Given the description of an element on the screen output the (x, y) to click on. 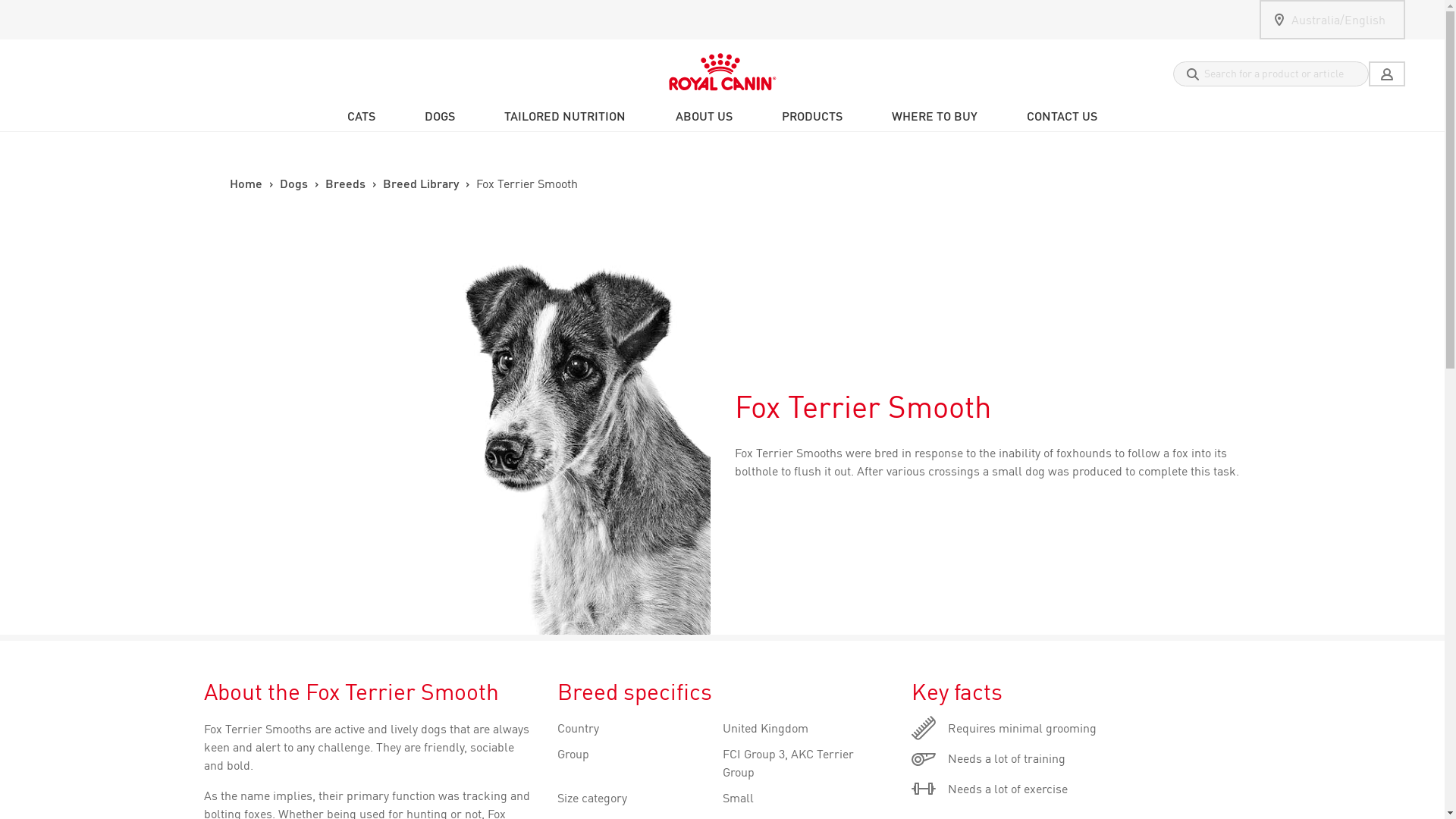
ABOUT US (703, 115)
TAILORED NUTRITION (564, 115)
My Account (1386, 73)
Cats (361, 115)
CATS (361, 115)
DOGS (439, 115)
Dogs (439, 115)
Search for a product or article (1270, 73)
